Given the description of an element on the screen output the (x, y) to click on. 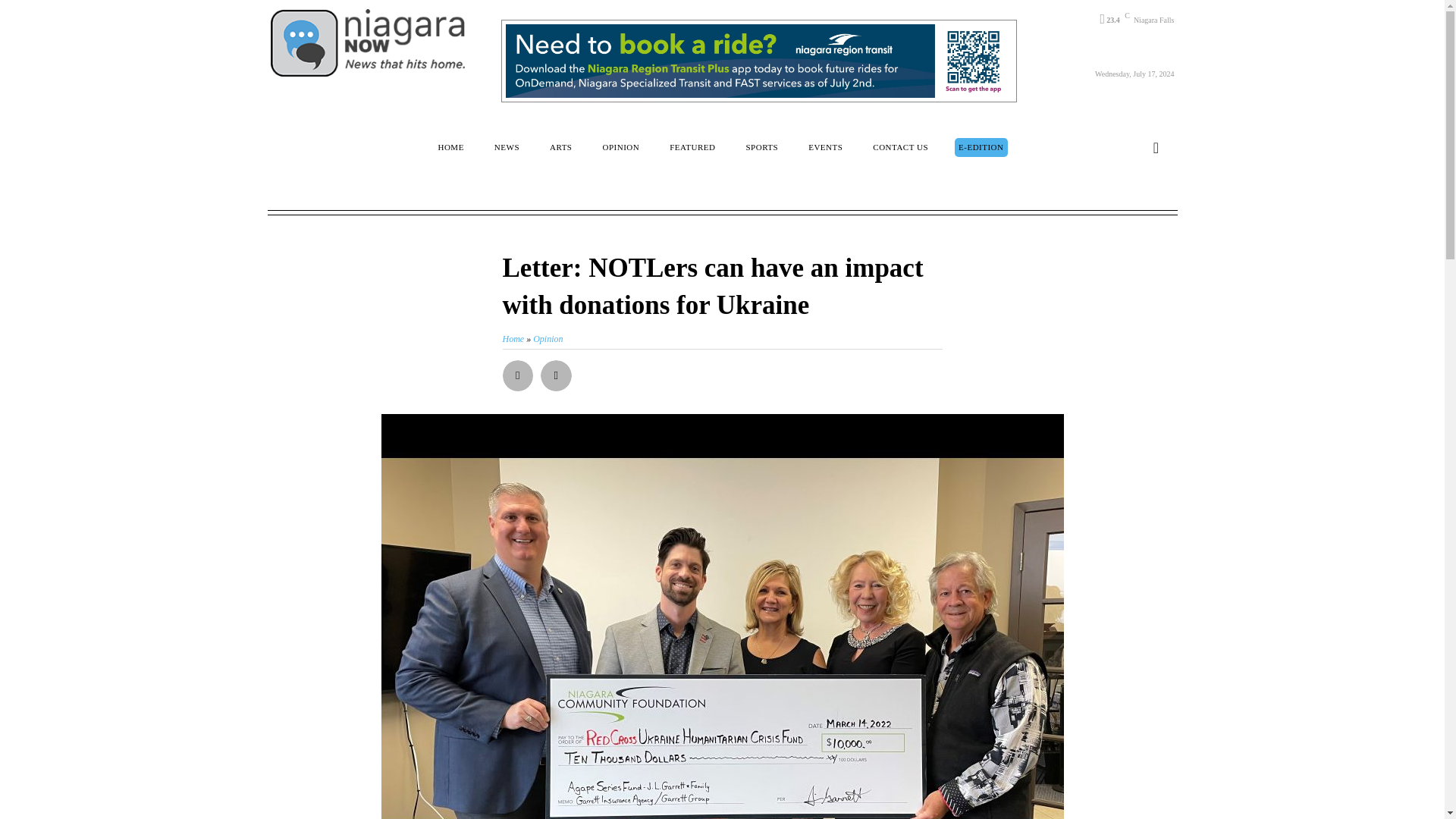
HOME (450, 147)
FEATURED (692, 147)
EVENTS (825, 147)
E-EDITION (981, 147)
SPORTS (761, 147)
CONTACT US (900, 147)
OPINION (620, 147)
NEWS (506, 147)
ARTS (560, 147)
